Given the description of an element on the screen output the (x, y) to click on. 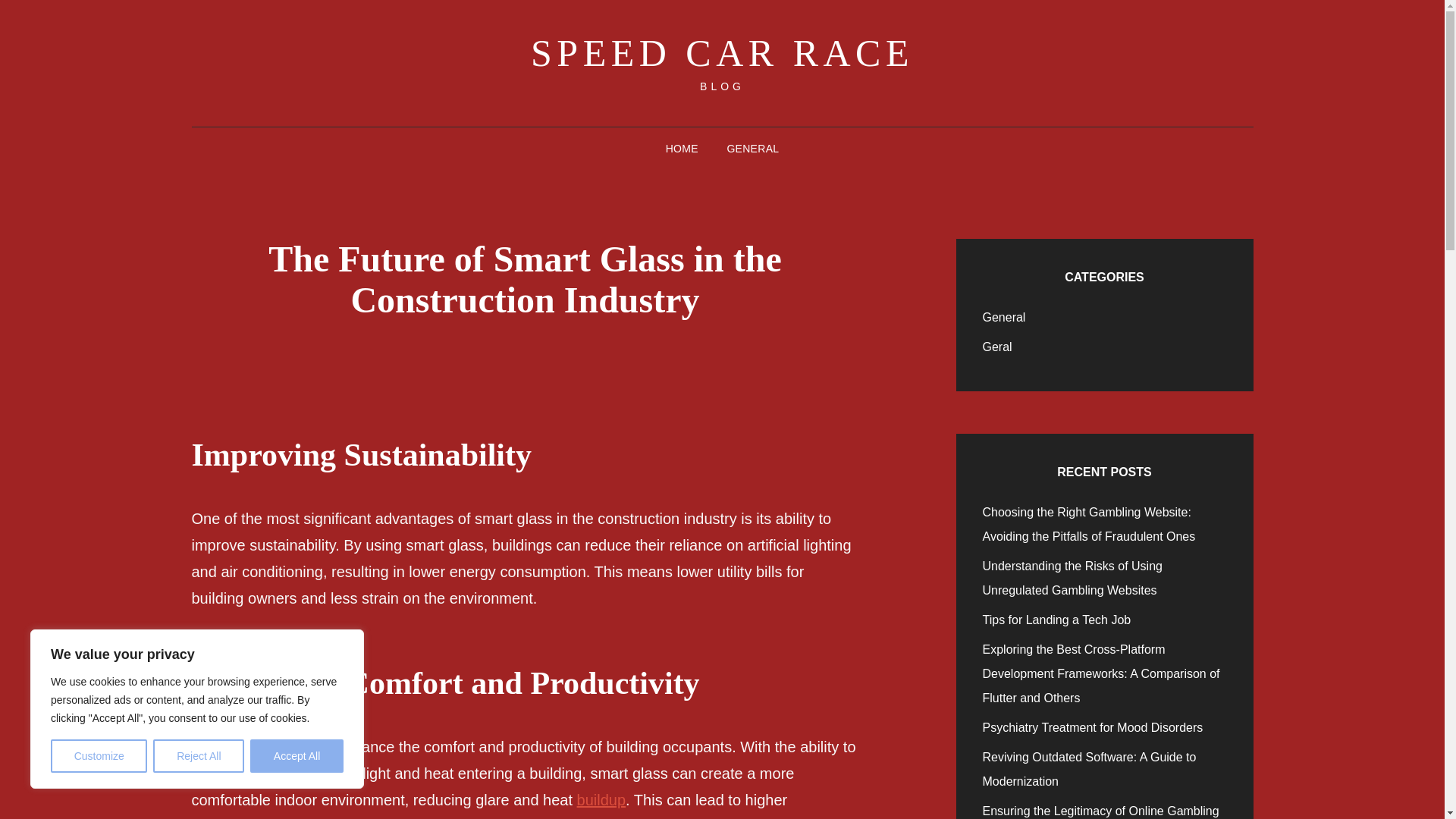
Reviving Outdated Software: A Guide to Modernization (1089, 769)
Customize (98, 756)
General (1004, 317)
Tips for Landing a Tech Job (1056, 619)
Geral (996, 346)
Reject All (198, 756)
HOME (681, 148)
buildup (601, 799)
